Given the description of an element on the screen output the (x, y) to click on. 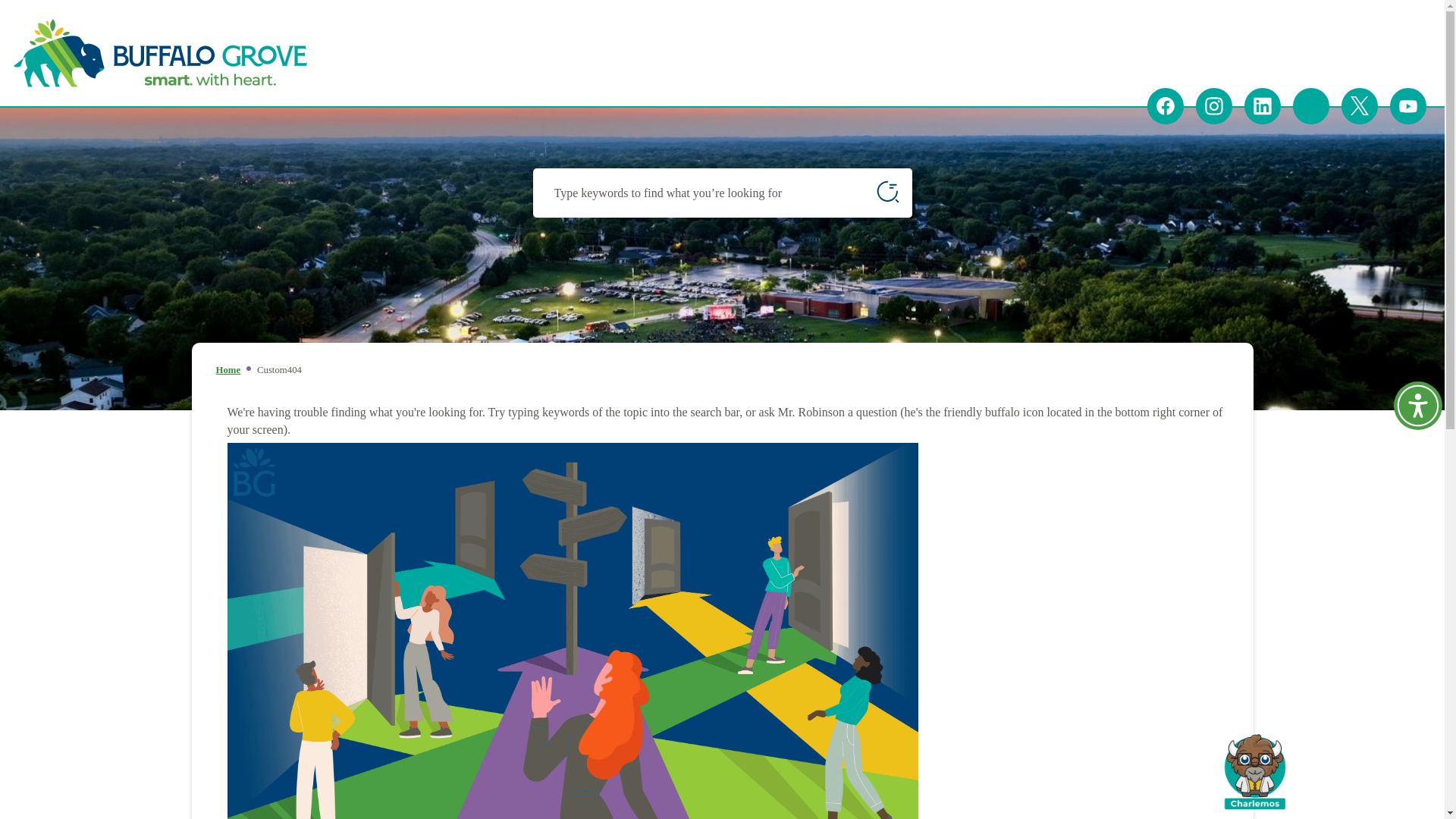
Accessibility Menu (1417, 405)
Home (227, 369)
X (1358, 105)
Skip to Main Content (6, 6)
LinkedIn (1262, 105)
Nextdoor (1310, 105)
YouTube (1408, 105)
Facebook (1165, 105)
Instagram (1213, 105)
